Given the description of an element on the screen output the (x, y) to click on. 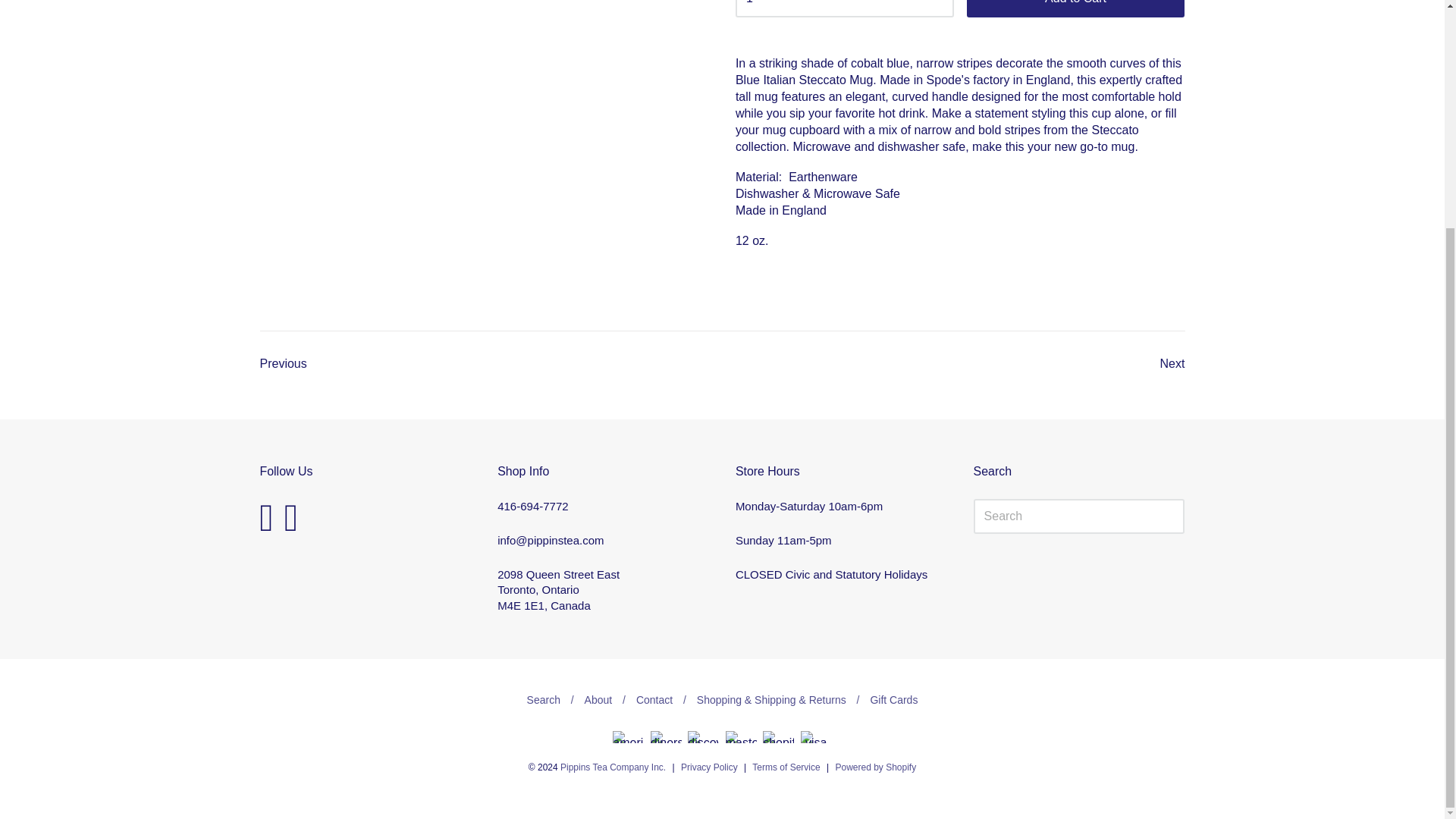
1 (844, 8)
Previous (282, 363)
Next (1172, 363)
